Given the description of an element on the screen output the (x, y) to click on. 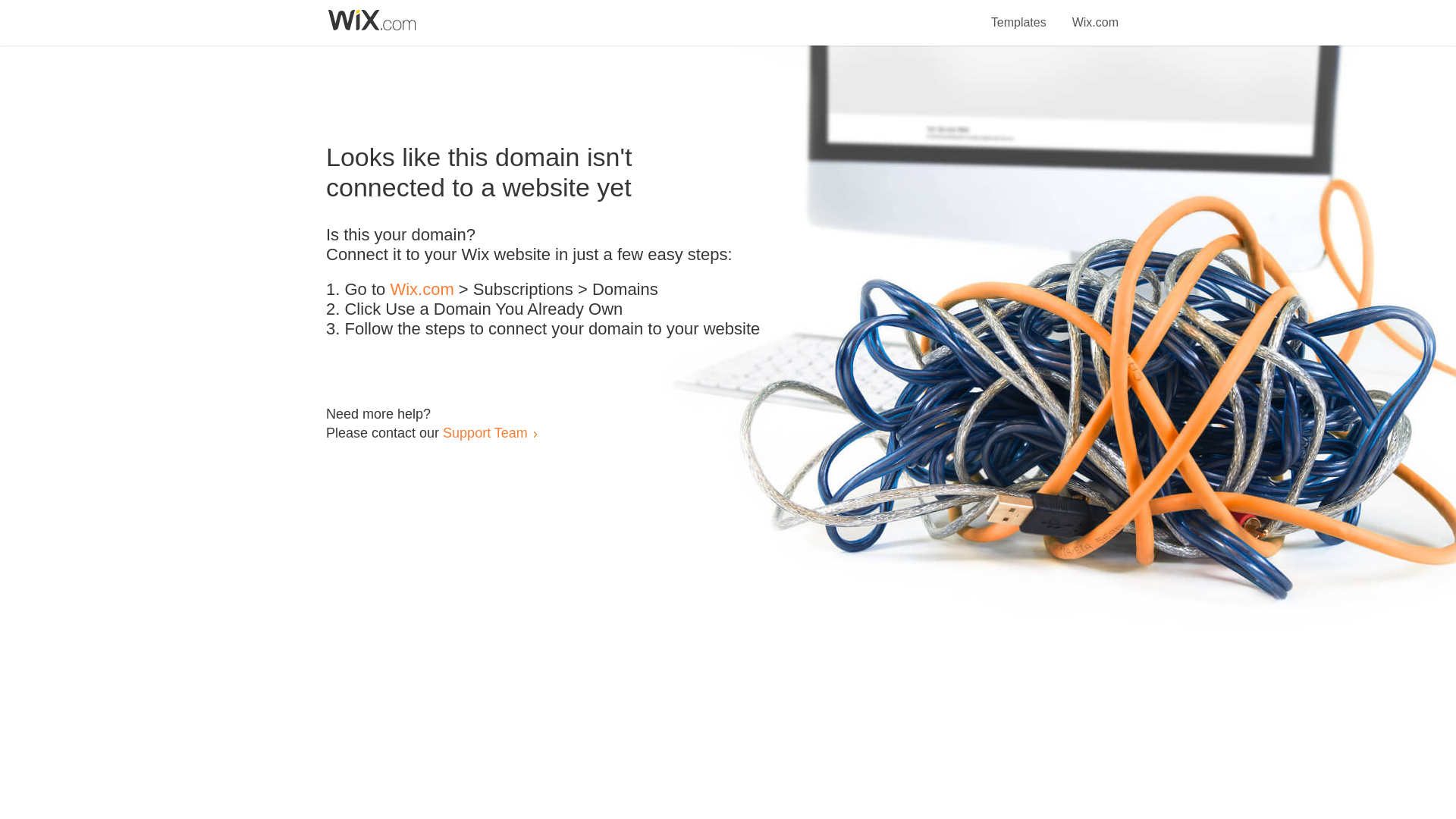
Wix.com (1095, 14)
Templates (1018, 14)
Wix.com (421, 289)
Support Team (484, 432)
